Given the description of an element on the screen output the (x, y) to click on. 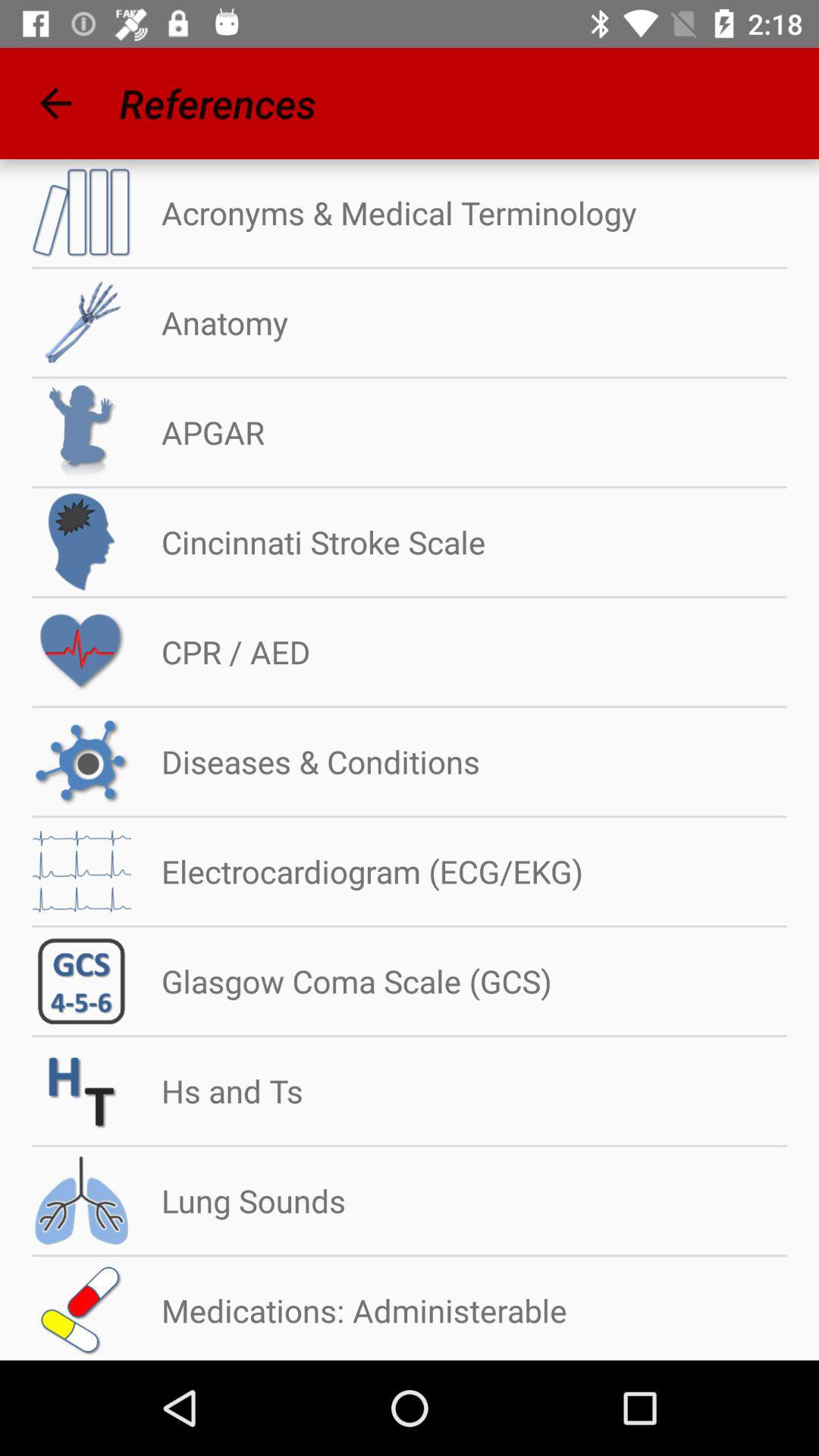
jump until diseases & conditions (305, 761)
